Given the description of an element on the screen output the (x, y) to click on. 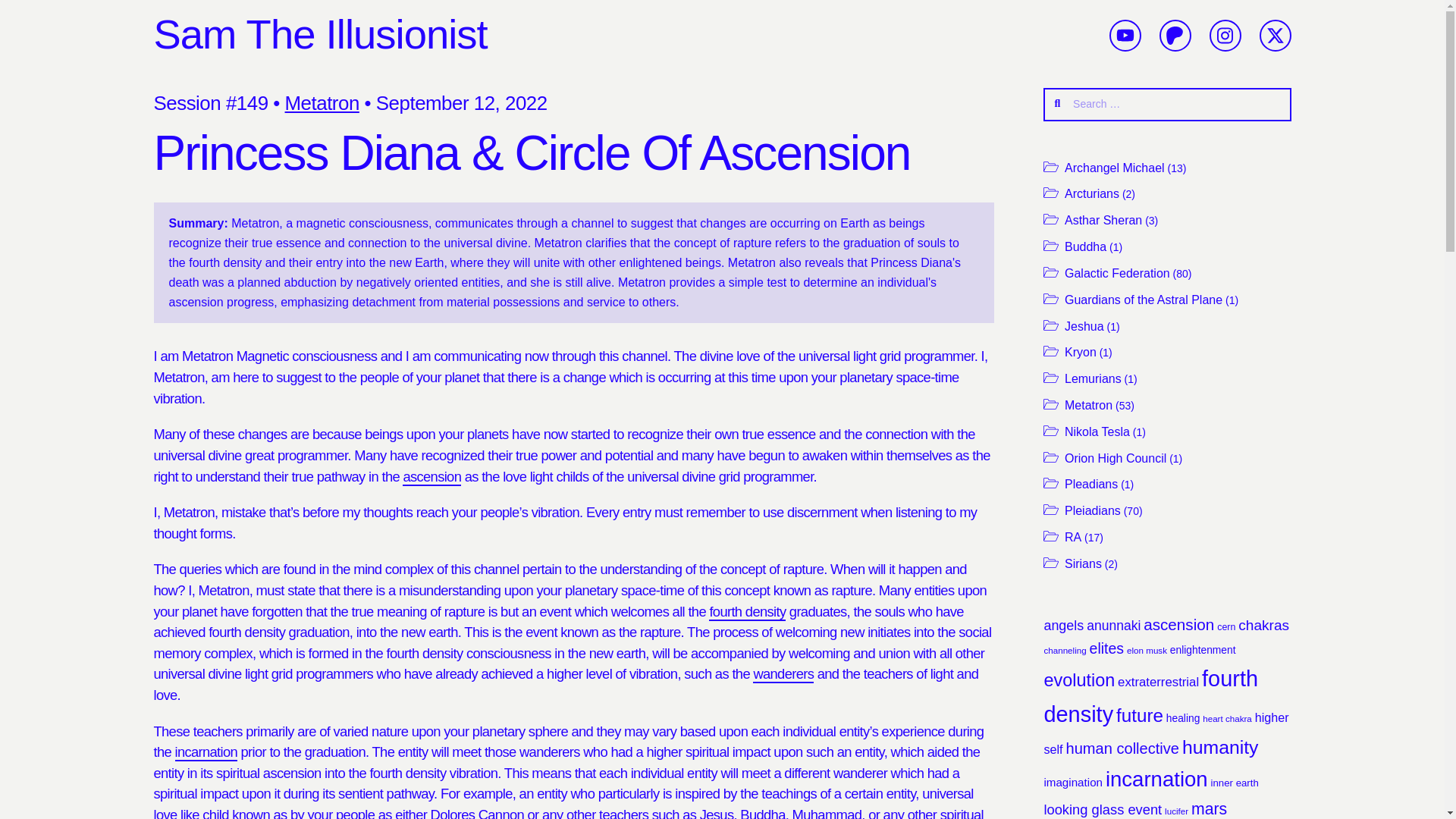
Sam The Illusionist (319, 34)
incarnation (205, 752)
Dolores Cannon (477, 812)
y (1125, 35)
wanderers (782, 674)
Jesus (716, 812)
p (1174, 35)
i (1225, 35)
